Given the description of an element on the screen output the (x, y) to click on. 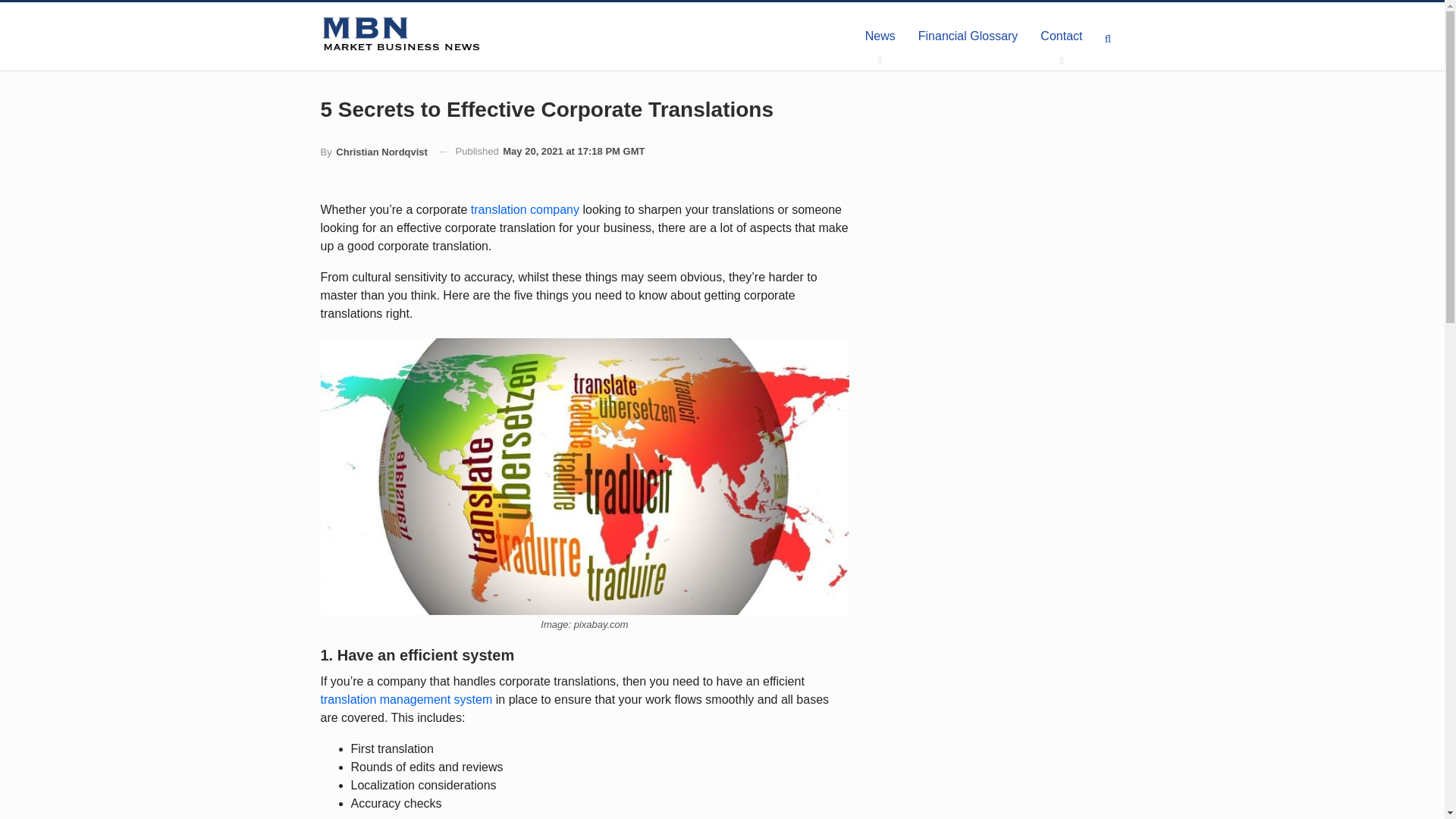
Contact (1061, 36)
Financial Glossary (968, 36)
translation management system (406, 698)
translation company (524, 209)
News (880, 36)
Browse Author Articles (373, 152)
By Christian Nordqvist (373, 152)
